Given the description of an element on the screen output the (x, y) to click on. 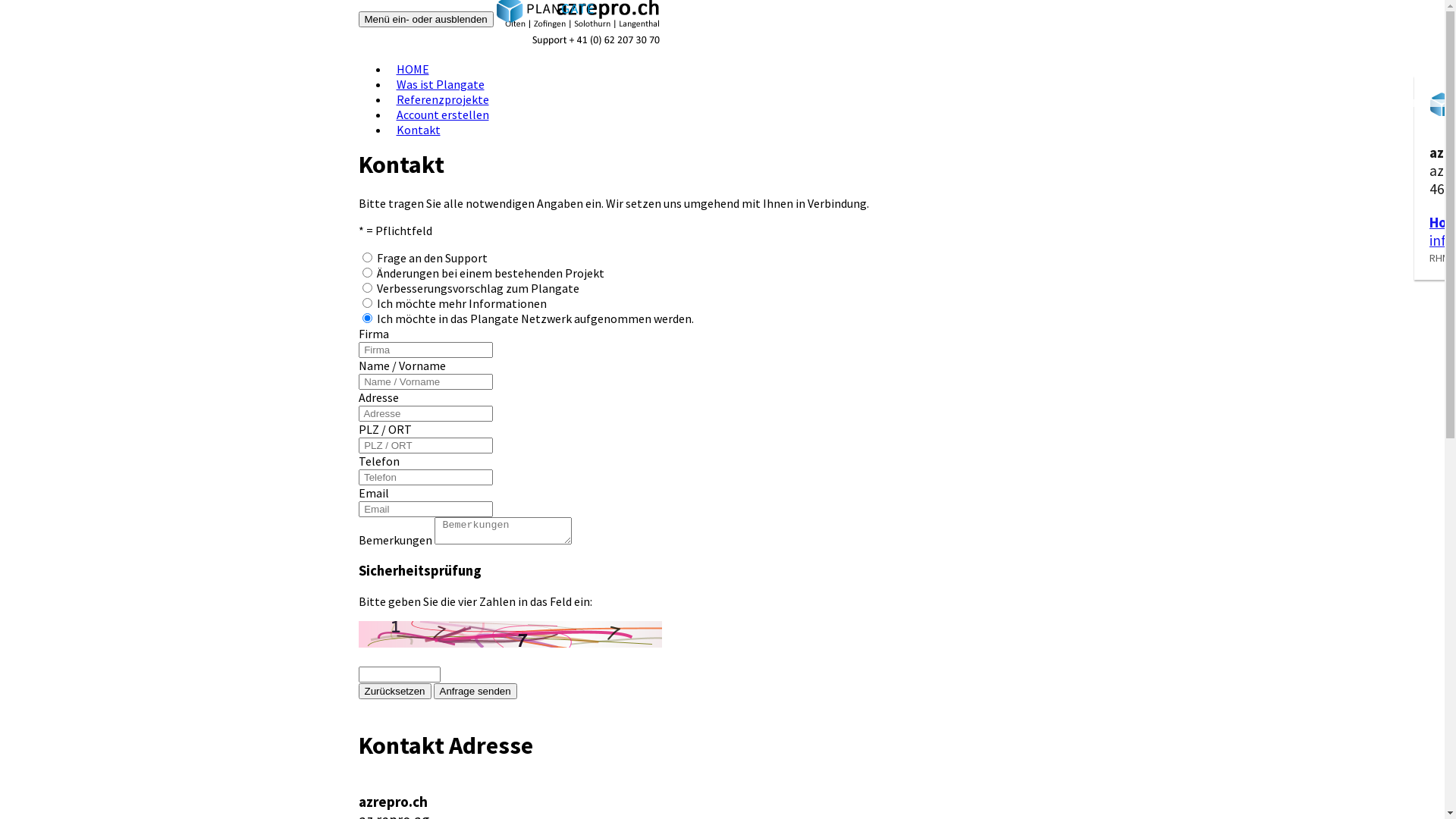
Was ist Plangate Element type: text (439, 84)
HOME Element type: text (412, 68)
Account erstellen Element type: text (441, 114)
Anfrage senden Element type: text (475, 691)
Referenzprojekte Element type: text (441, 99)
Kontakt Element type: text (417, 129)
